Given the description of an element on the screen output the (x, y) to click on. 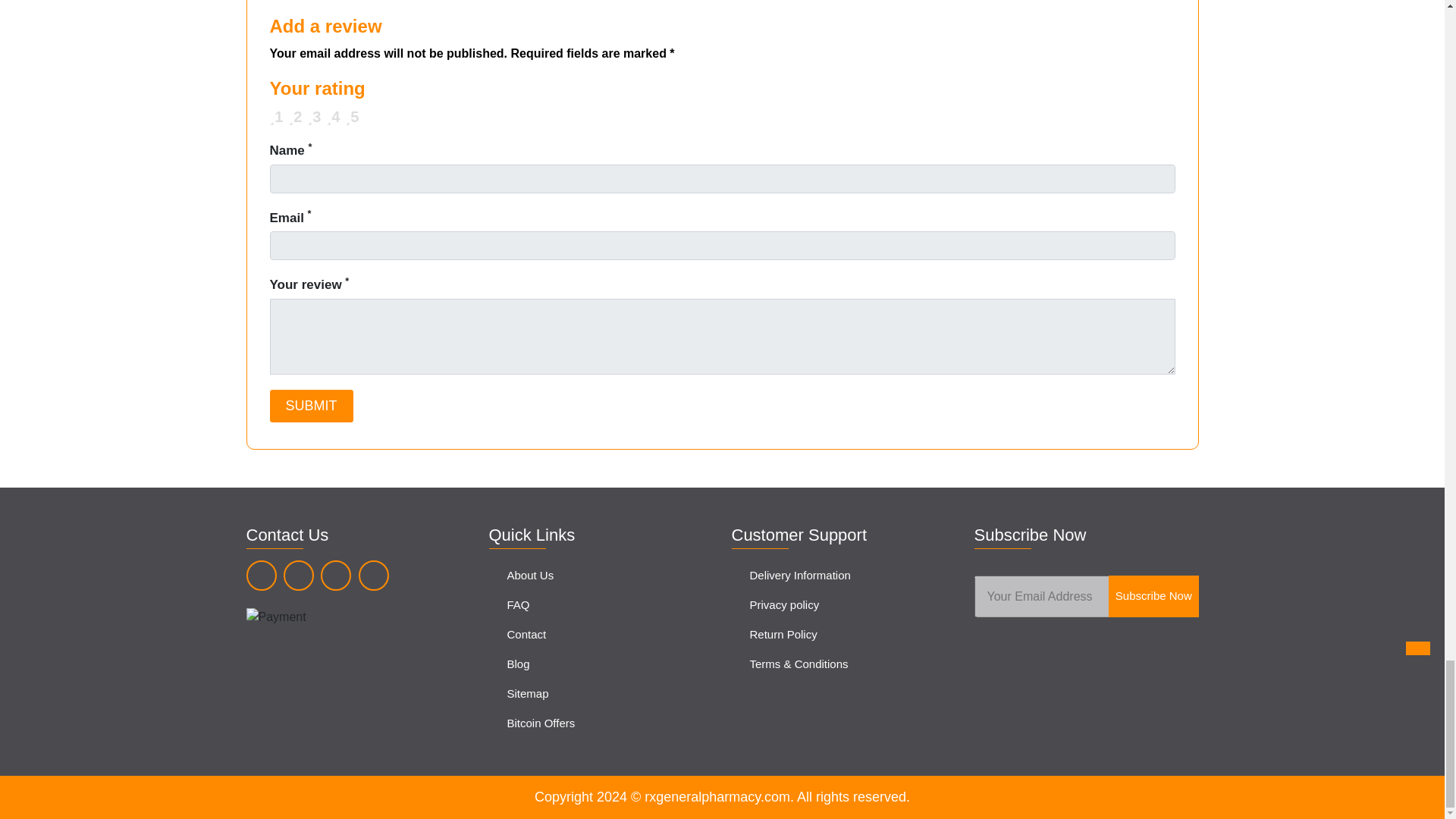
2 (274, 112)
5 (274, 112)
Submit (311, 405)
4 (274, 112)
1 (274, 112)
3 (274, 112)
